Given the description of an element on the screen output the (x, y) to click on. 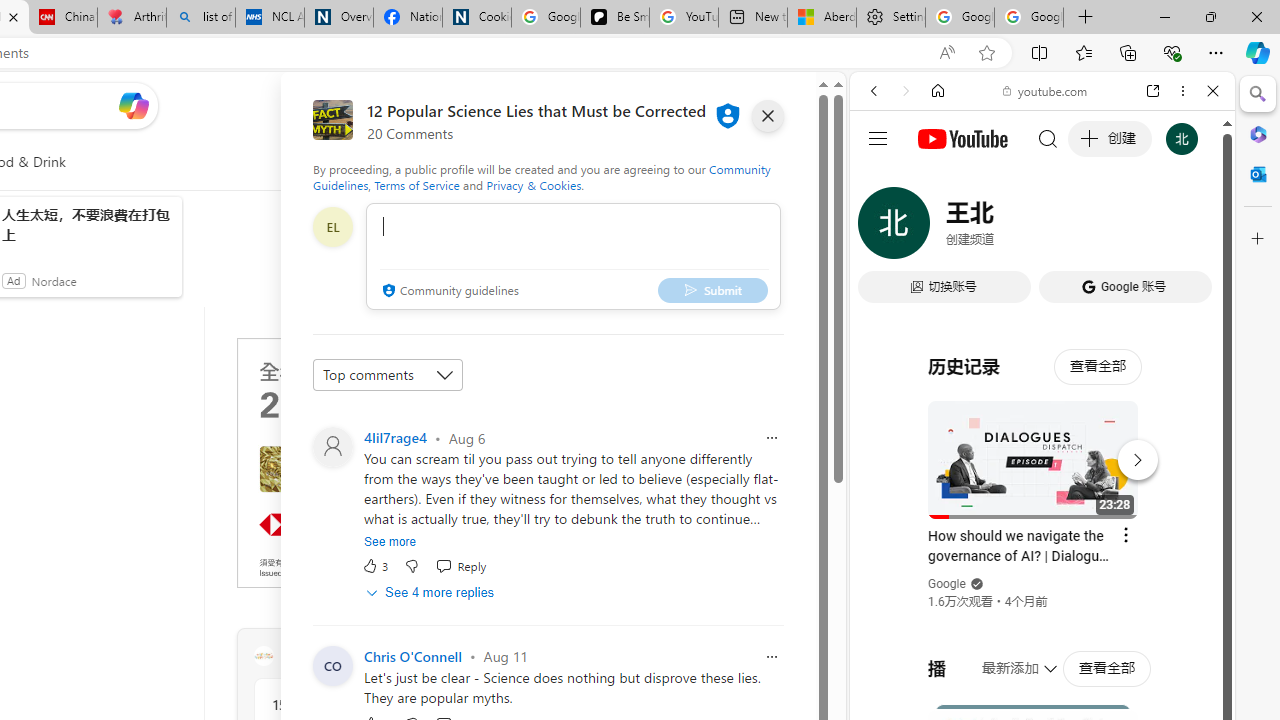
Profile Picture (333, 665)
Music (1042, 543)
Class: b_serphb (1190, 229)
4lil7rage4 (395, 437)
Community guidelines (448, 291)
Search Filter, WEB (882, 228)
Trailer #2 [HD] (1042, 594)
